Given the description of an element on the screen output the (x, y) to click on. 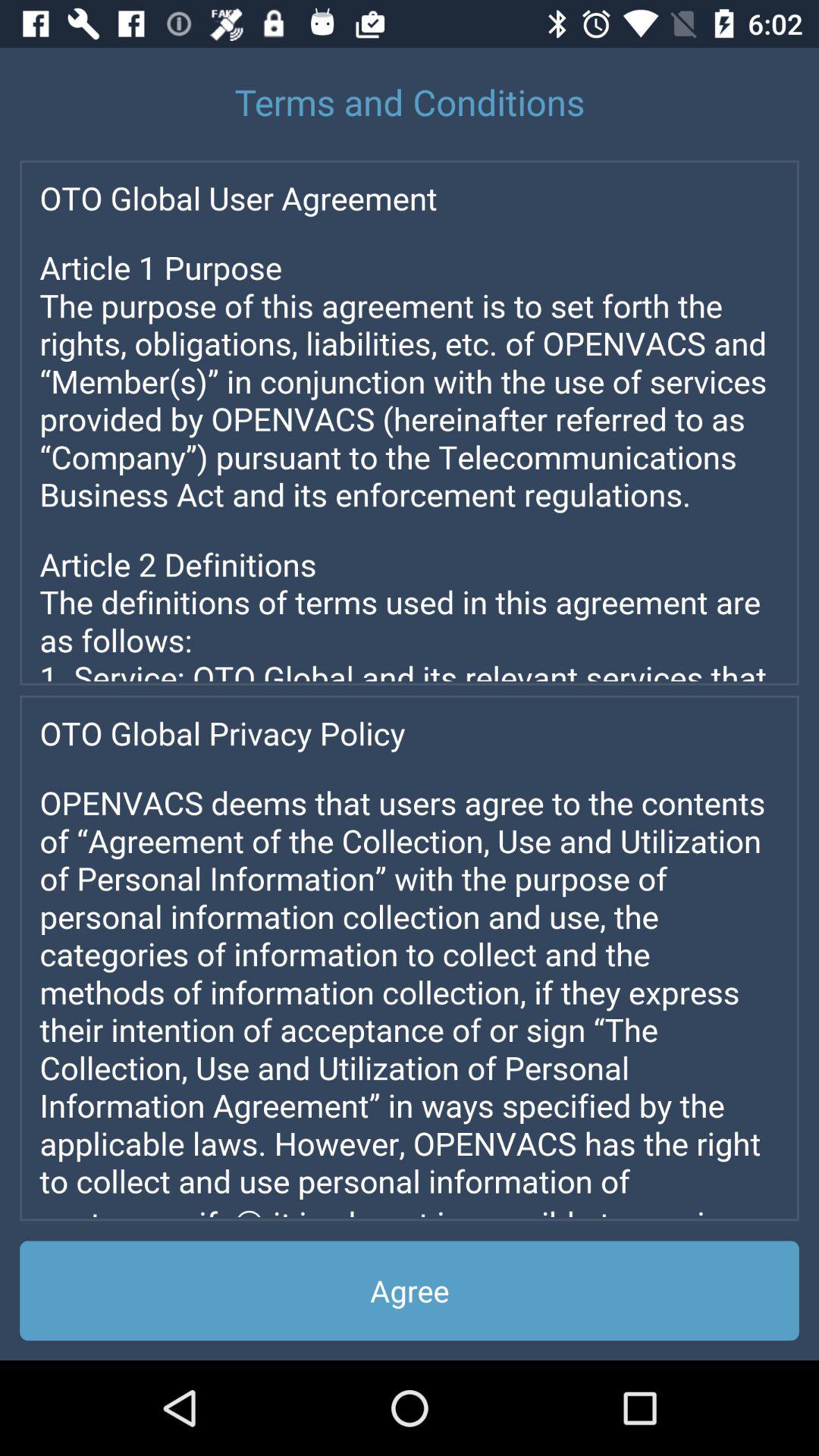
advertisement page (409, 958)
